Given the description of an element on the screen output the (x, y) to click on. 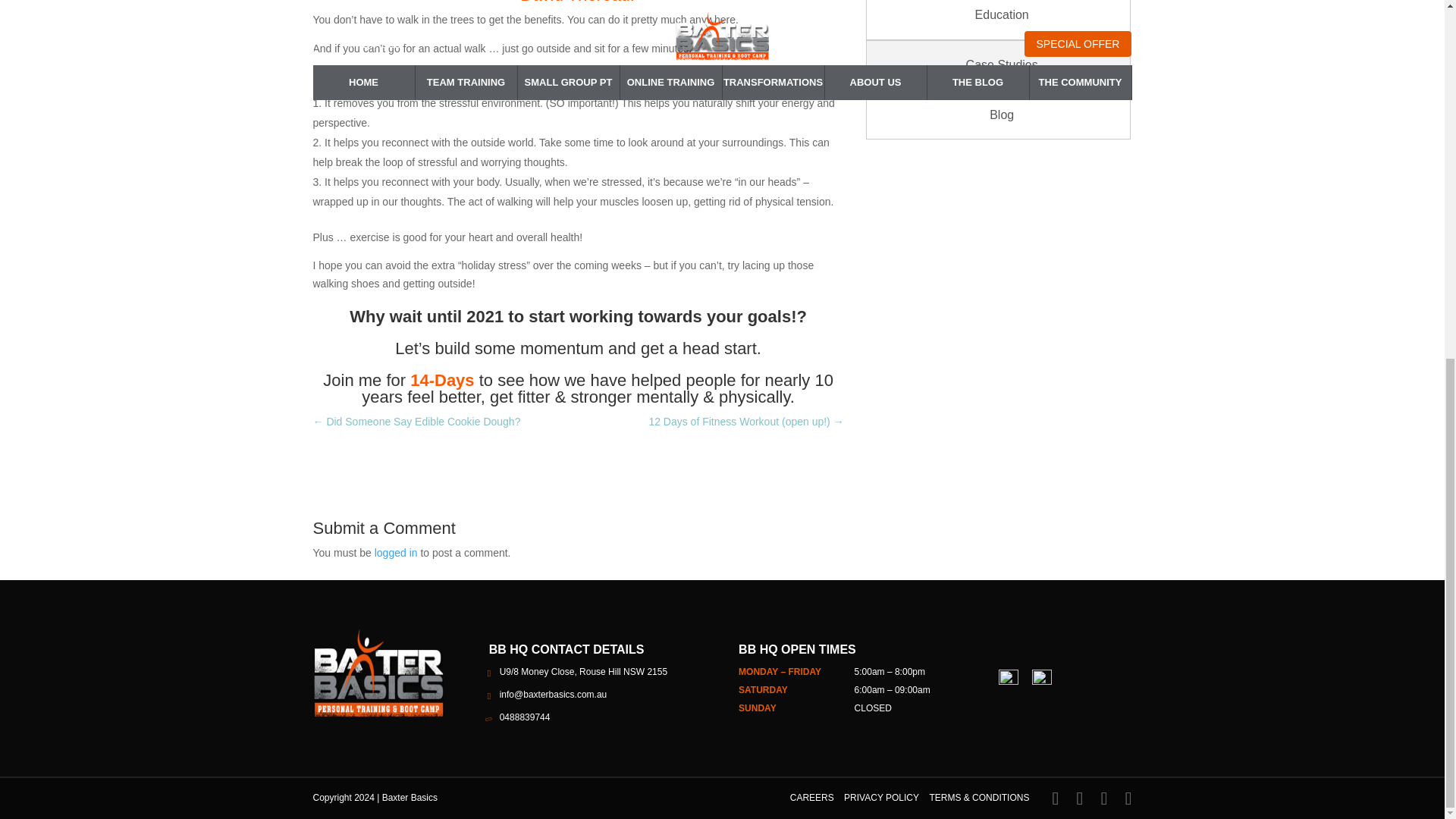
Blog (1002, 115)
Education (1002, 20)
CAREERS (812, 797)
logged in (395, 552)
PRIVACY POLICY (881, 797)
Case Studies (1002, 65)
0488839744 (524, 716)
